Given the description of an element on the screen output the (x, y) to click on. 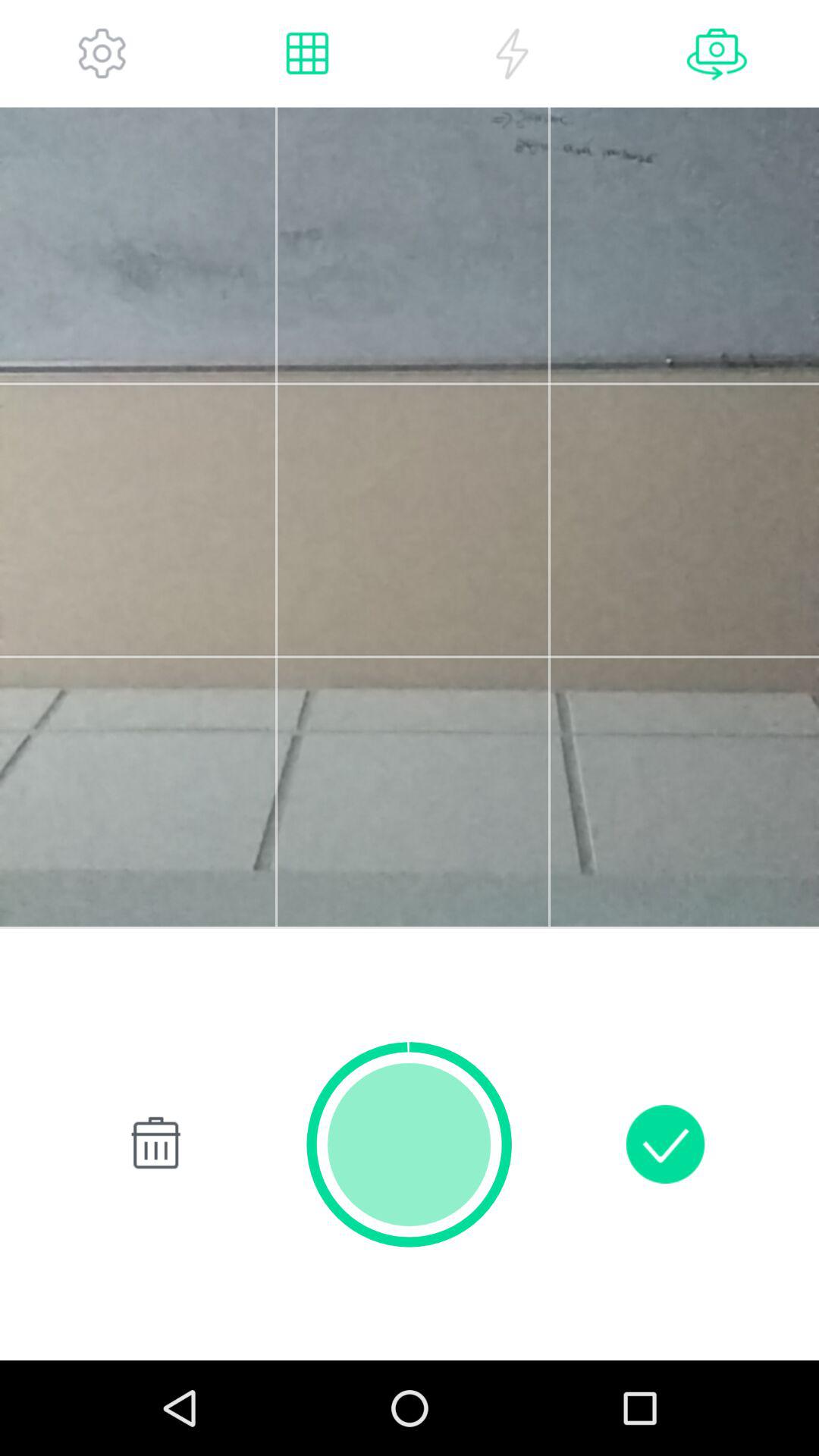
settings cog (102, 53)
